Given the description of an element on the screen output the (x, y) to click on. 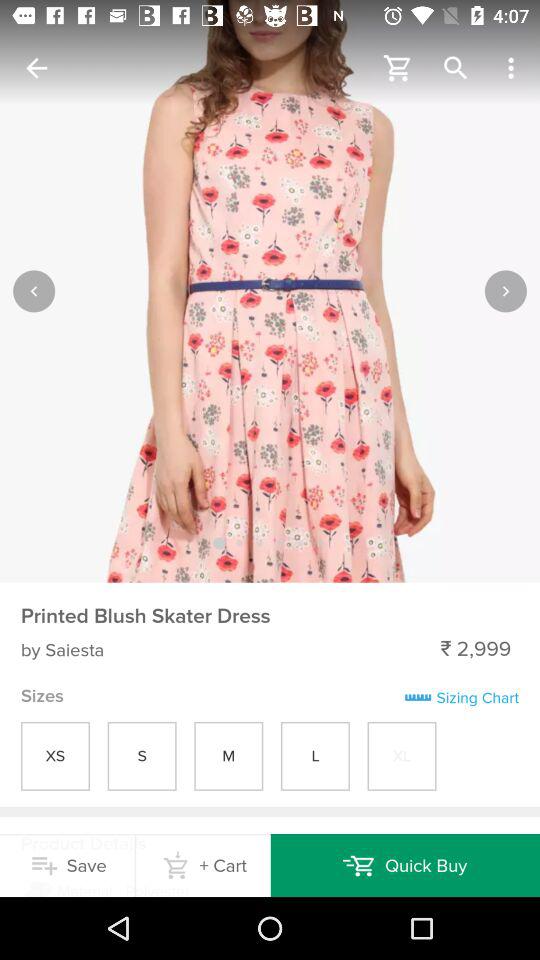
click on right arrow in the image (505, 290)
select the button which is in on the right side of the save button (203, 865)
select s in sizes (142, 756)
select xs in sizes (55, 756)
click on l in sizes (314, 756)
select magnifier icon (456, 68)
